Given the description of an element on the screen output the (x, y) to click on. 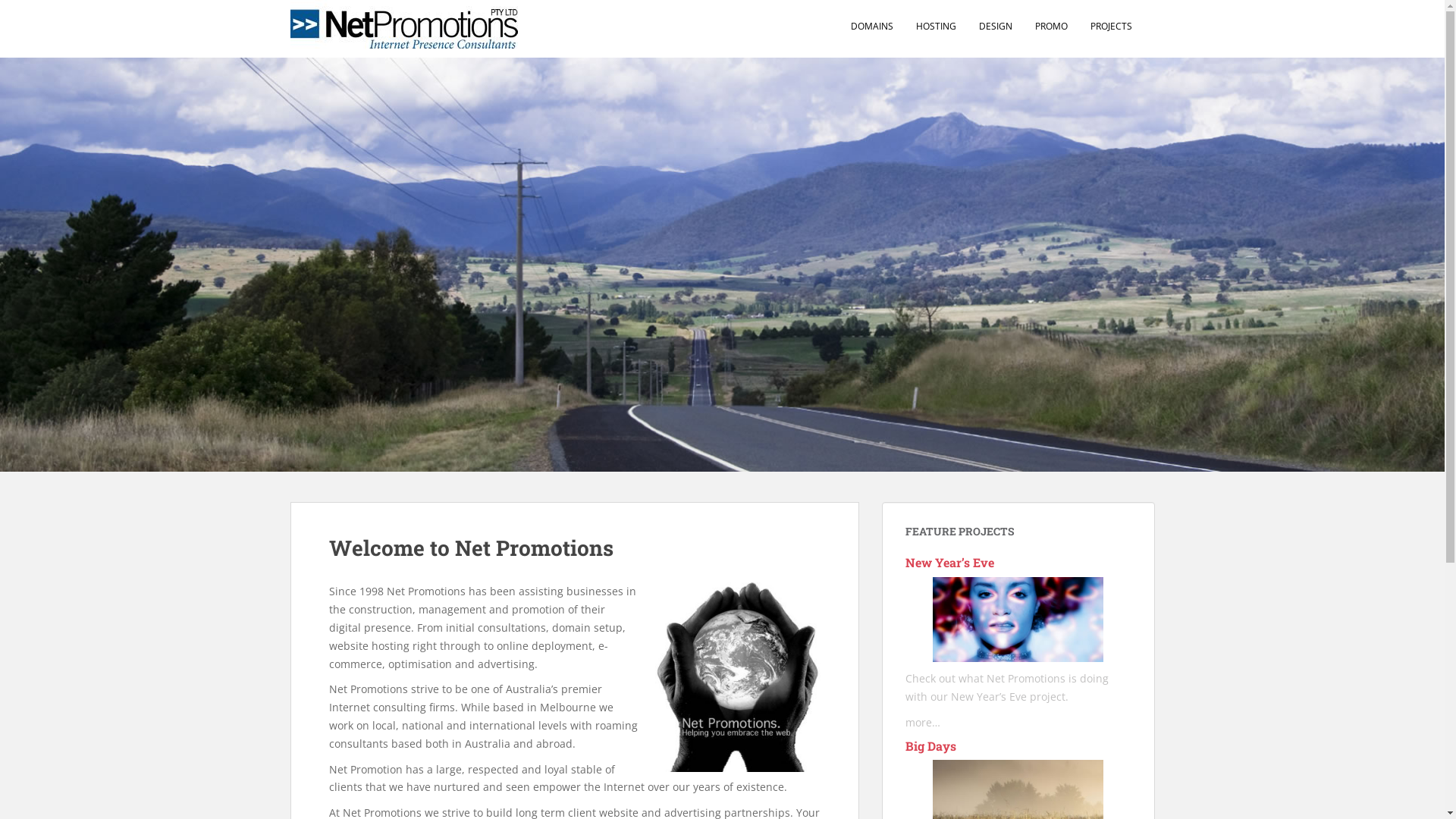
PROMO Element type: text (1050, 26)
PROJECTS Element type: text (1111, 26)
DOMAINS Element type: text (871, 26)
DESIGN Element type: text (994, 26)
HOSTING Element type: text (936, 26)
